Given the description of an element on the screen output the (x, y) to click on. 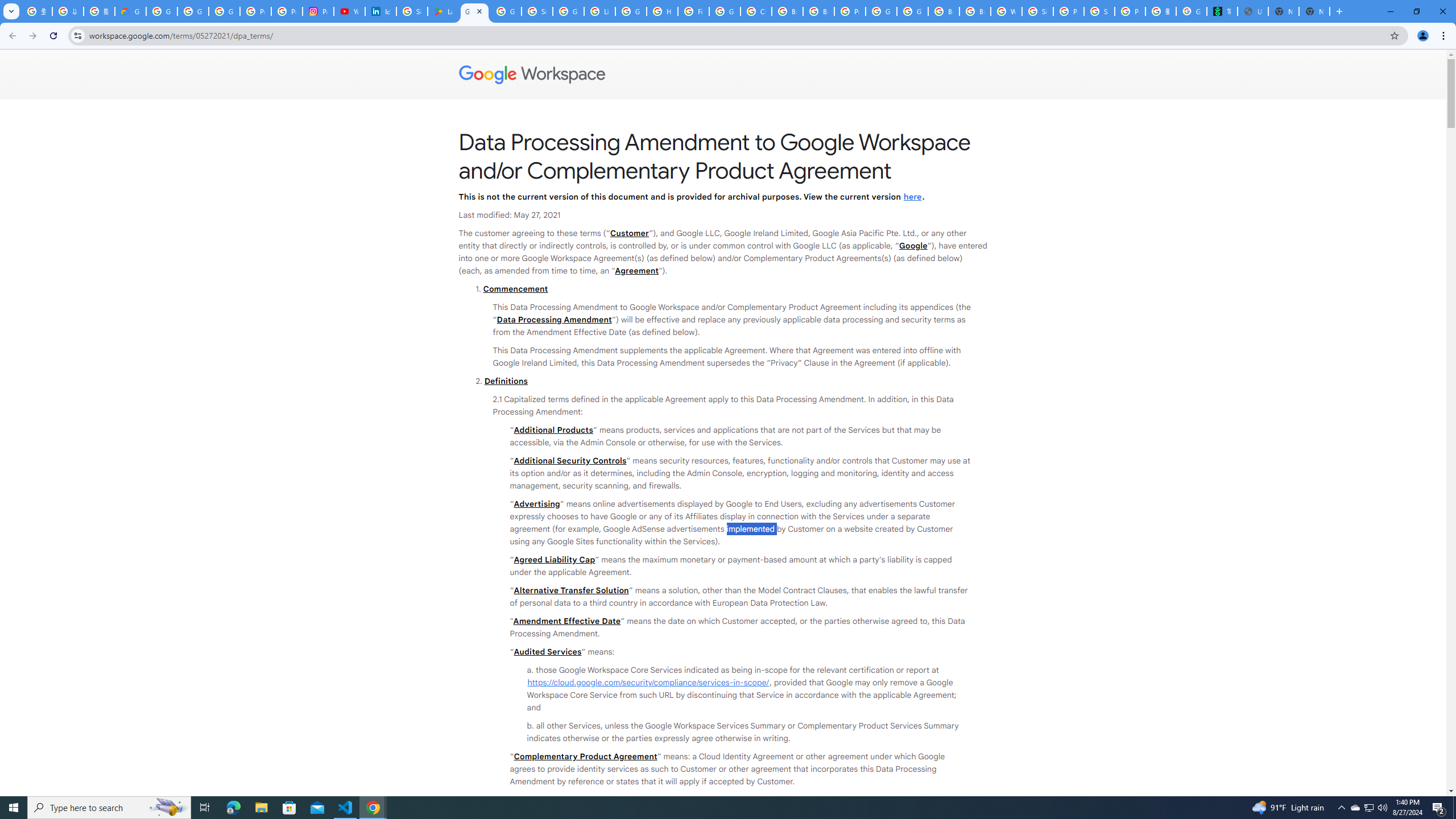
Google Workspace - Specific Terms (505, 11)
Google Cloud Platform (881, 11)
Google Workspace (723, 74)
Last Shelter: Survival - Apps on Google Play (443, 11)
